Given the description of an element on the screen output the (x, y) to click on. 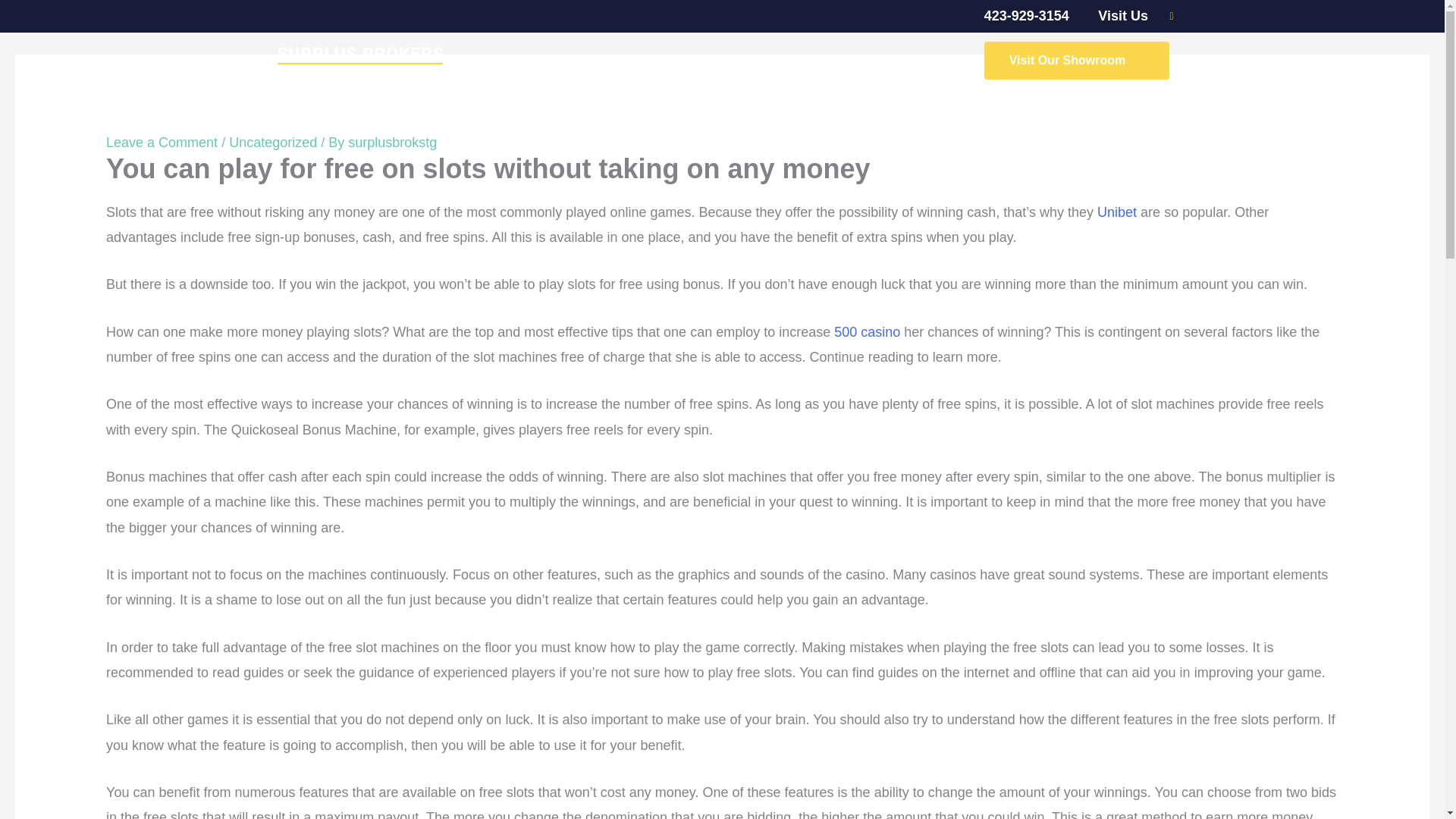
Unibet (1117, 212)
Uncategorized (272, 142)
Visit Our Showroom (1077, 60)
View all posts by surplusbrokstg (391, 142)
About (826, 60)
Leave a Comment (161, 142)
500 casino (866, 331)
Contact (901, 60)
Visit Us (1114, 16)
surplusbrokstg (391, 142)
